Given the description of an element on the screen output the (x, y) to click on. 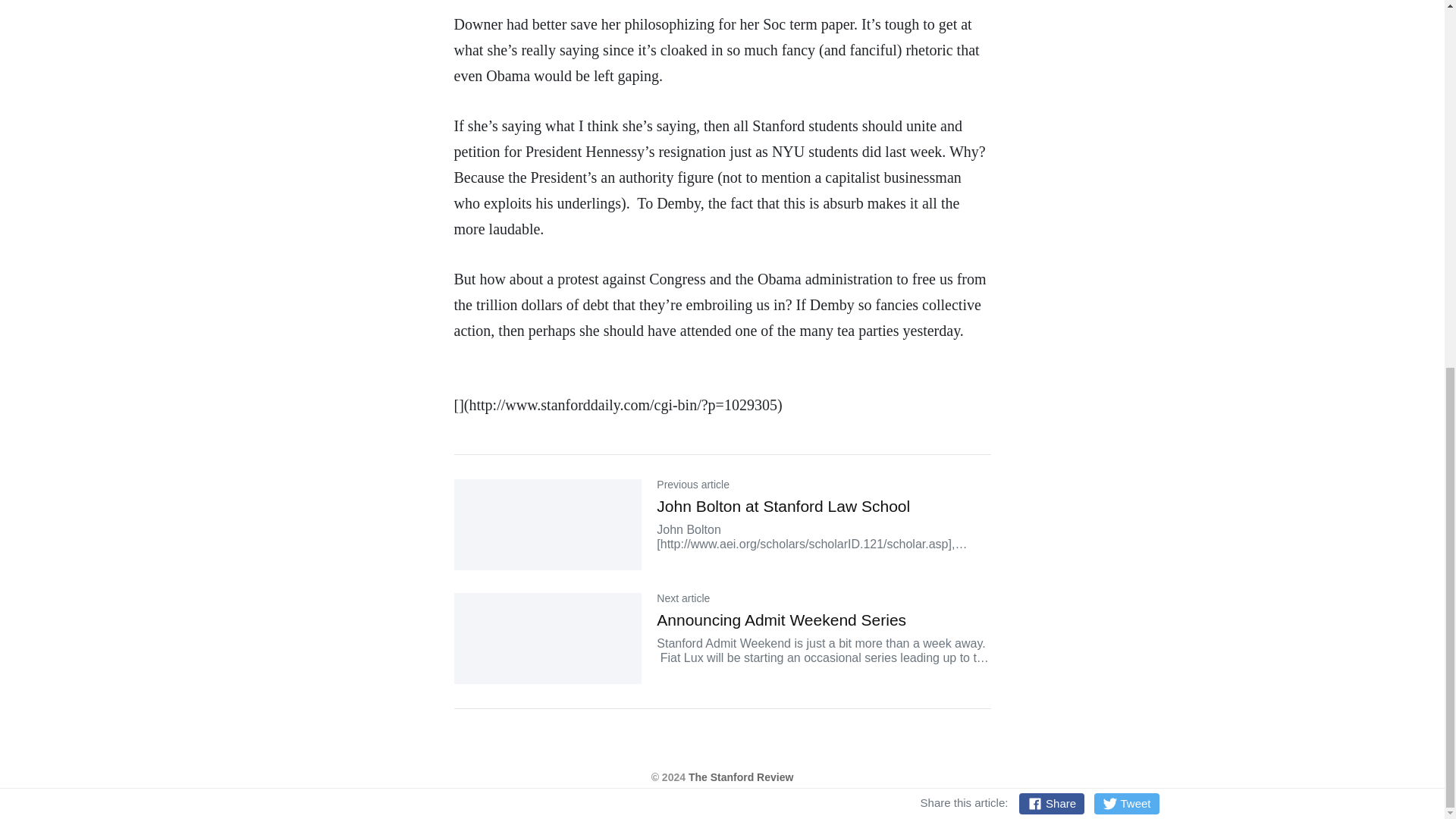
Share (1051, 139)
Announcing Admit Weekend Series (780, 619)
Share on Facebook (1051, 139)
Tweet (1126, 139)
Share on Twitter (1126, 139)
The Stanford Review (740, 776)
John Bolton at Stanford Law School (783, 506)
